Given the description of an element on the screen output the (x, y) to click on. 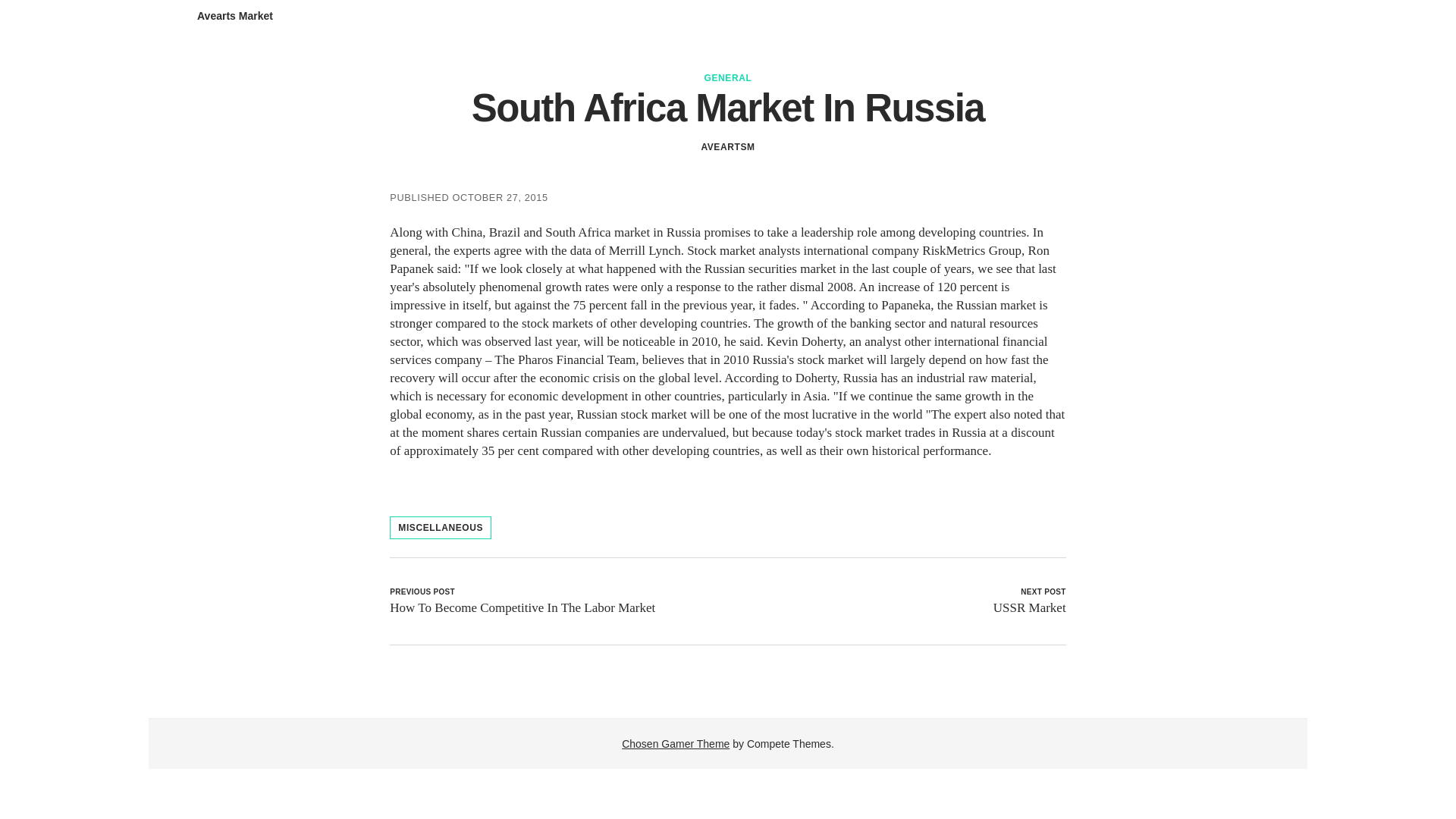
How To Become Competitive In The Labor Market (522, 607)
USSR Market (1028, 607)
GENERAL (728, 77)
Chosen Gamer Theme (675, 743)
Avearts Market (234, 15)
MISCELLANEOUS (441, 527)
